Given the description of an element on the screen output the (x, y) to click on. 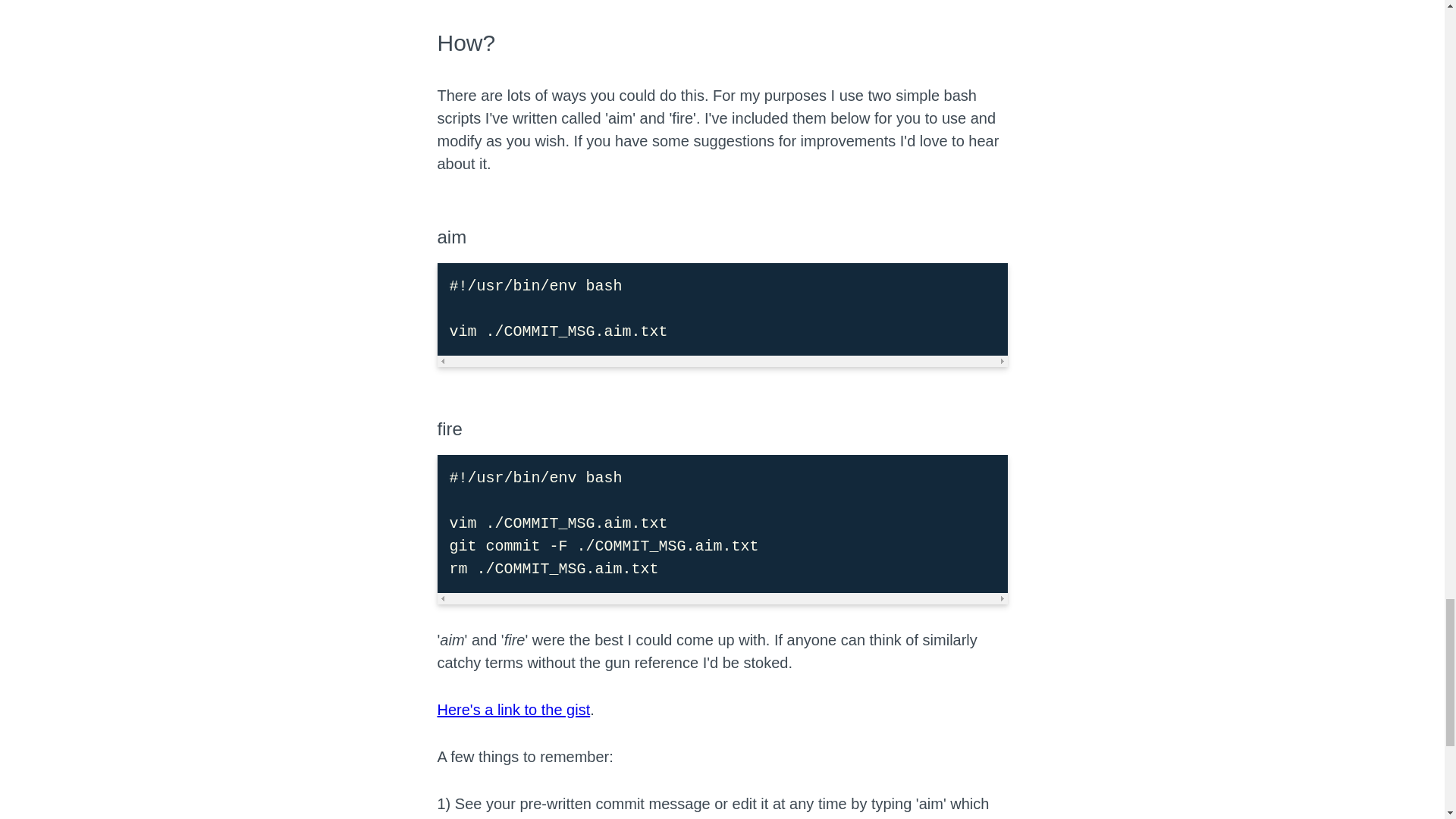
Here's a link to the gist (512, 709)
